Given the description of an element on the screen output the (x, y) to click on. 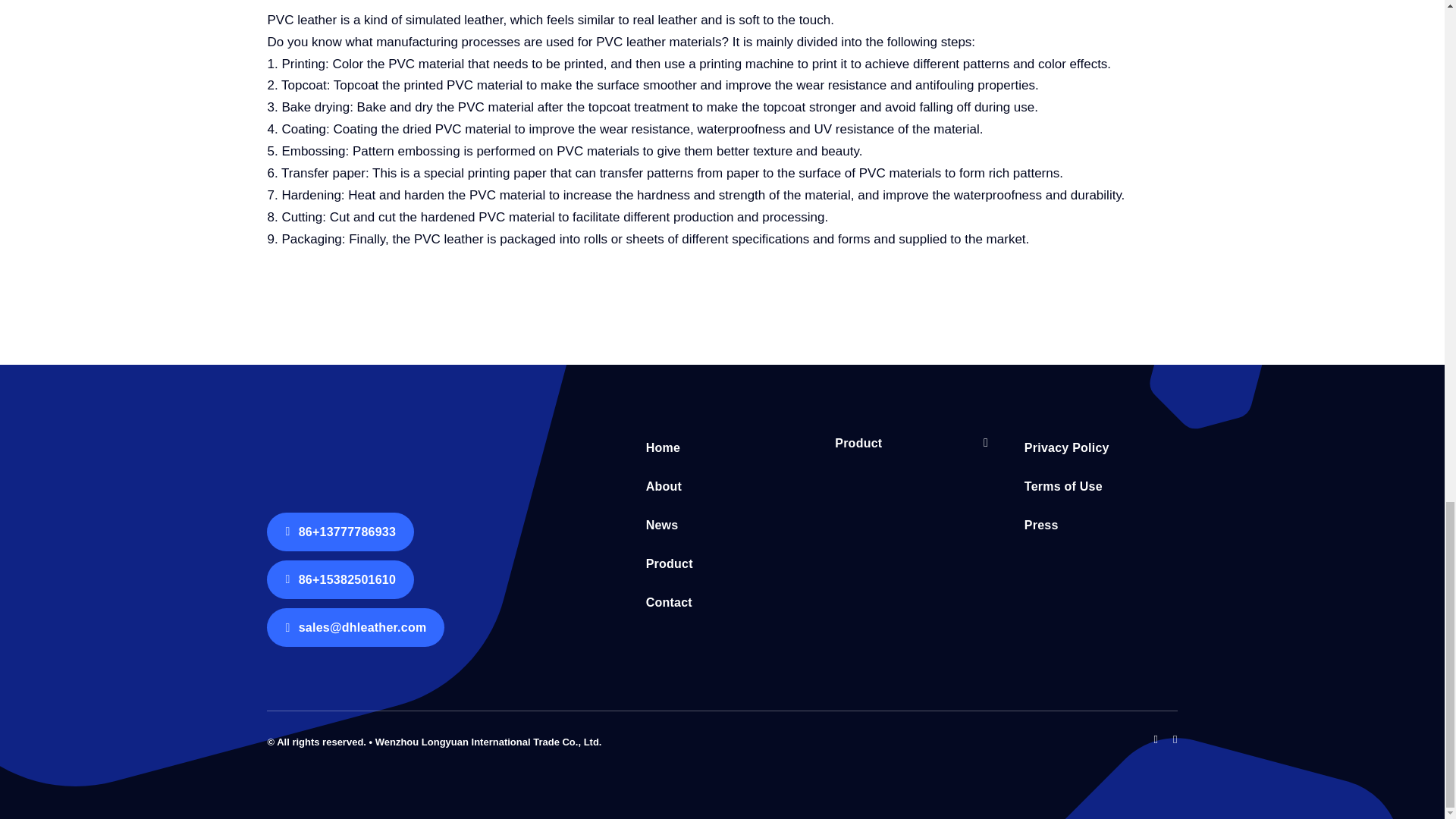
Contact (722, 603)
Product (722, 563)
News (722, 525)
About (722, 486)
Home (722, 448)
Product (905, 444)
